Given the description of an element on the screen output the (x, y) to click on. 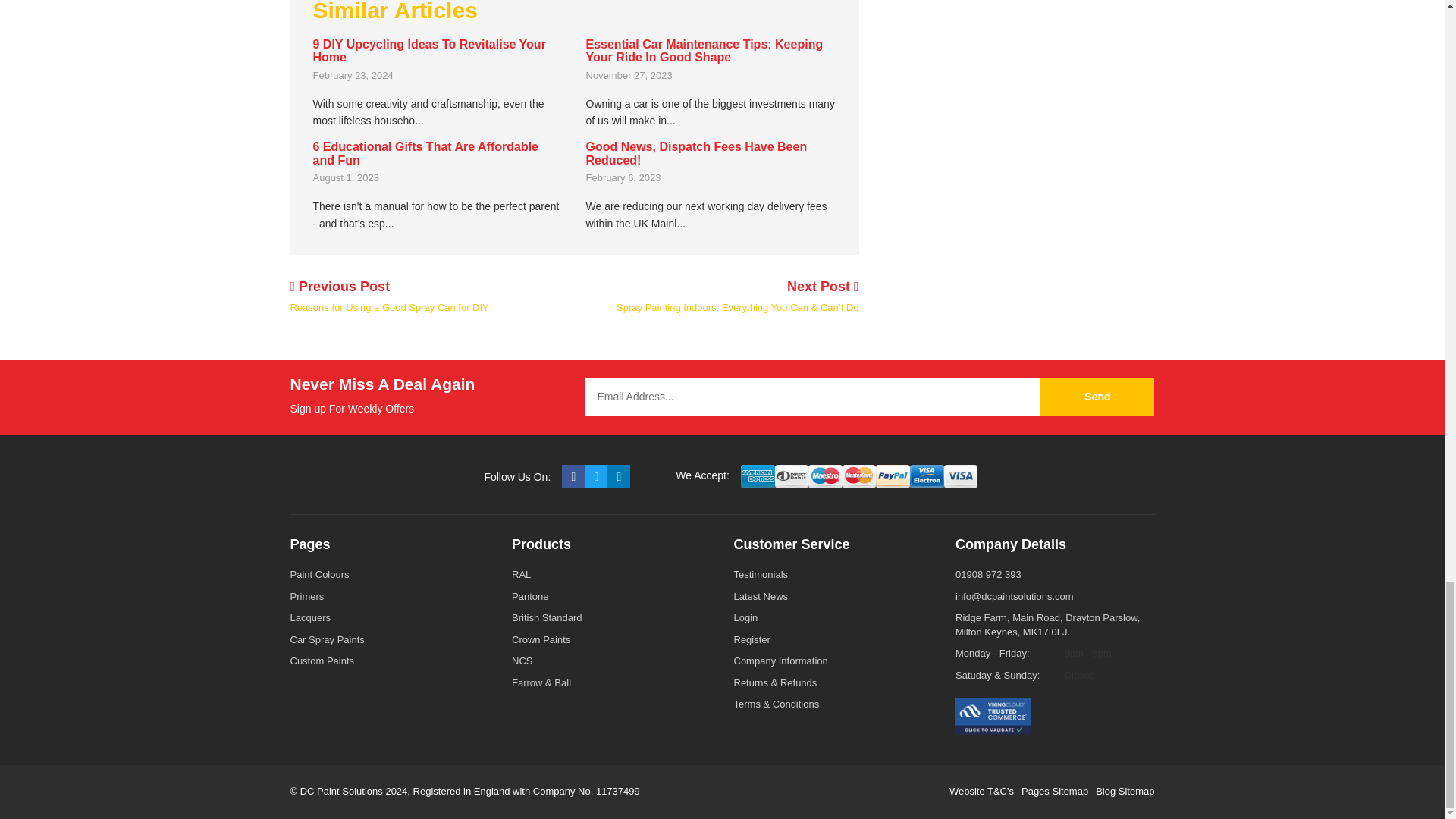
Send (1097, 397)
